Given the description of an element on the screen output the (x, y) to click on. 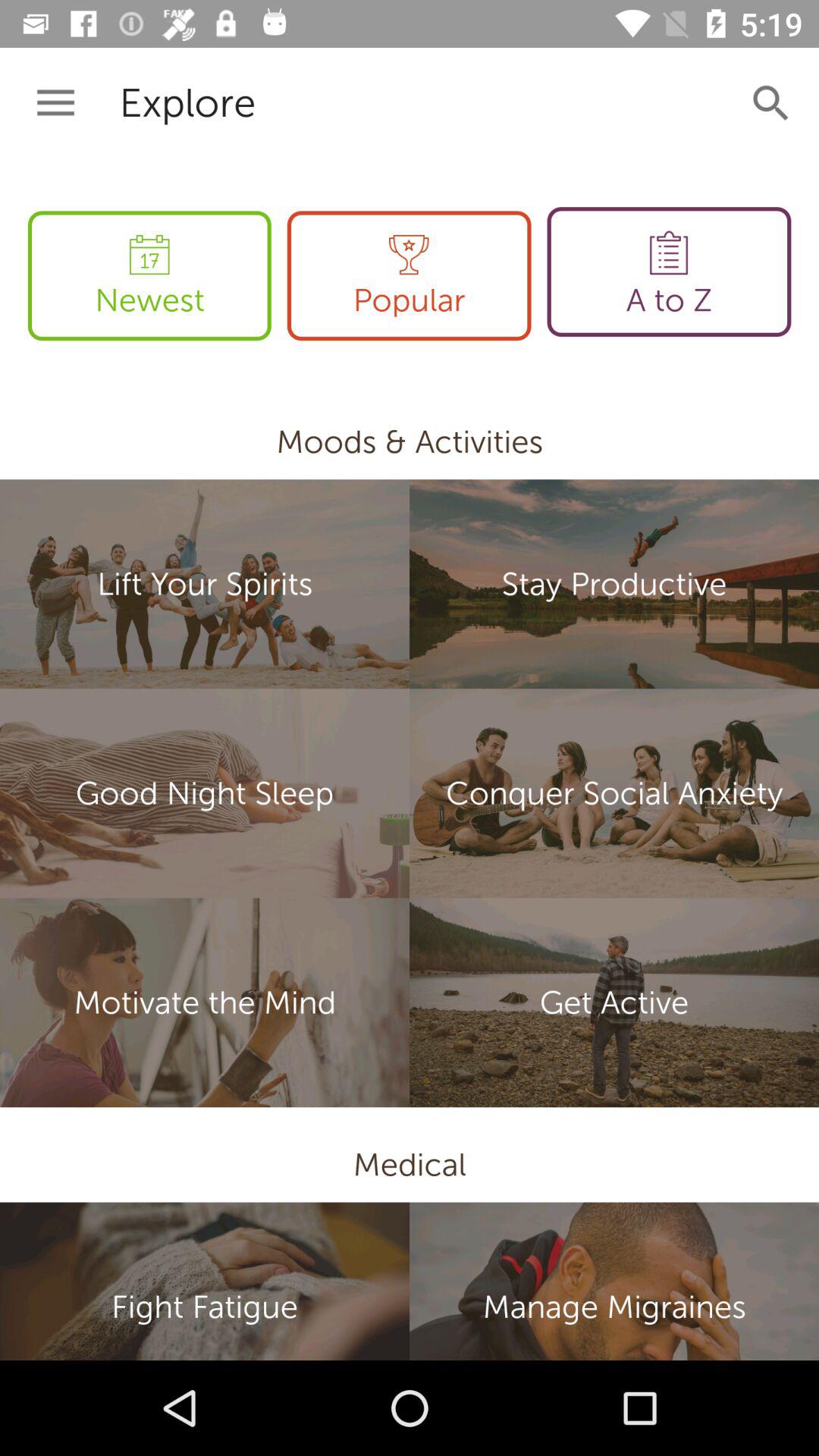
tap the icon to the right of popular item (669, 271)
